Given the description of an element on the screen output the (x, y) to click on. 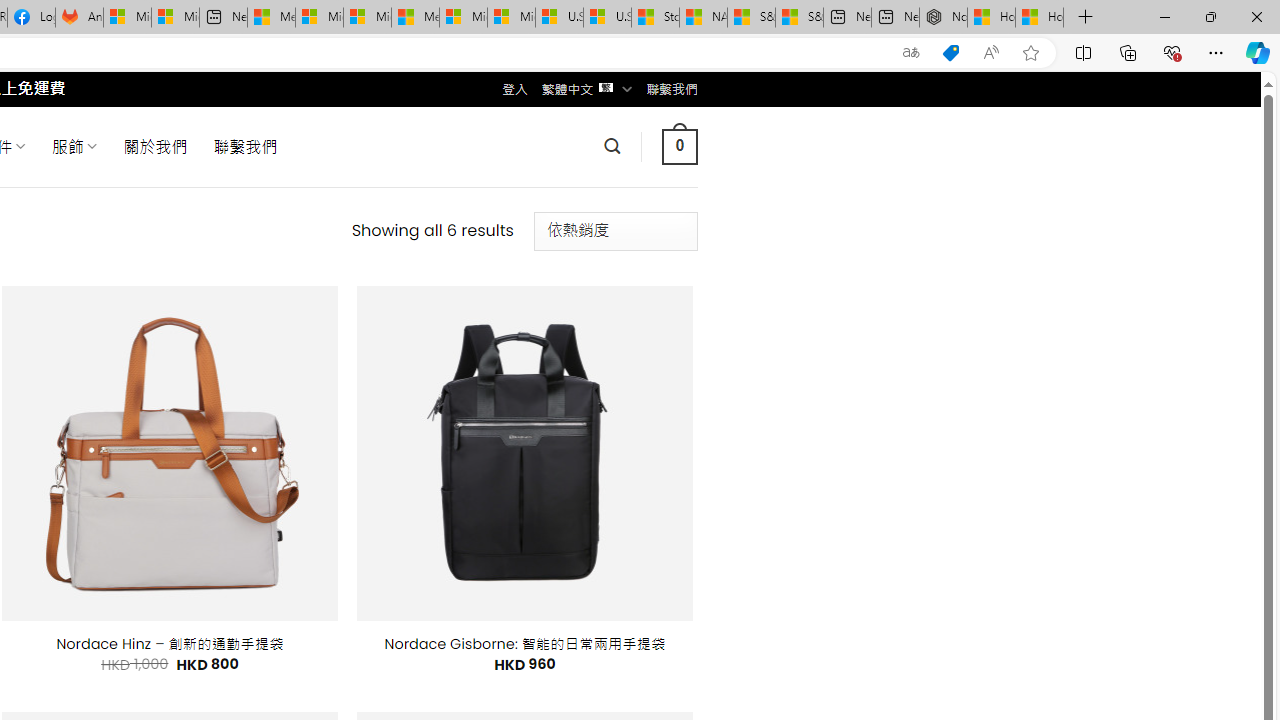
  0   (679, 146)
 0  (679, 146)
Show translate options (910, 53)
Microsoft account | Home (367, 17)
